Given the description of an element on the screen output the (x, y) to click on. 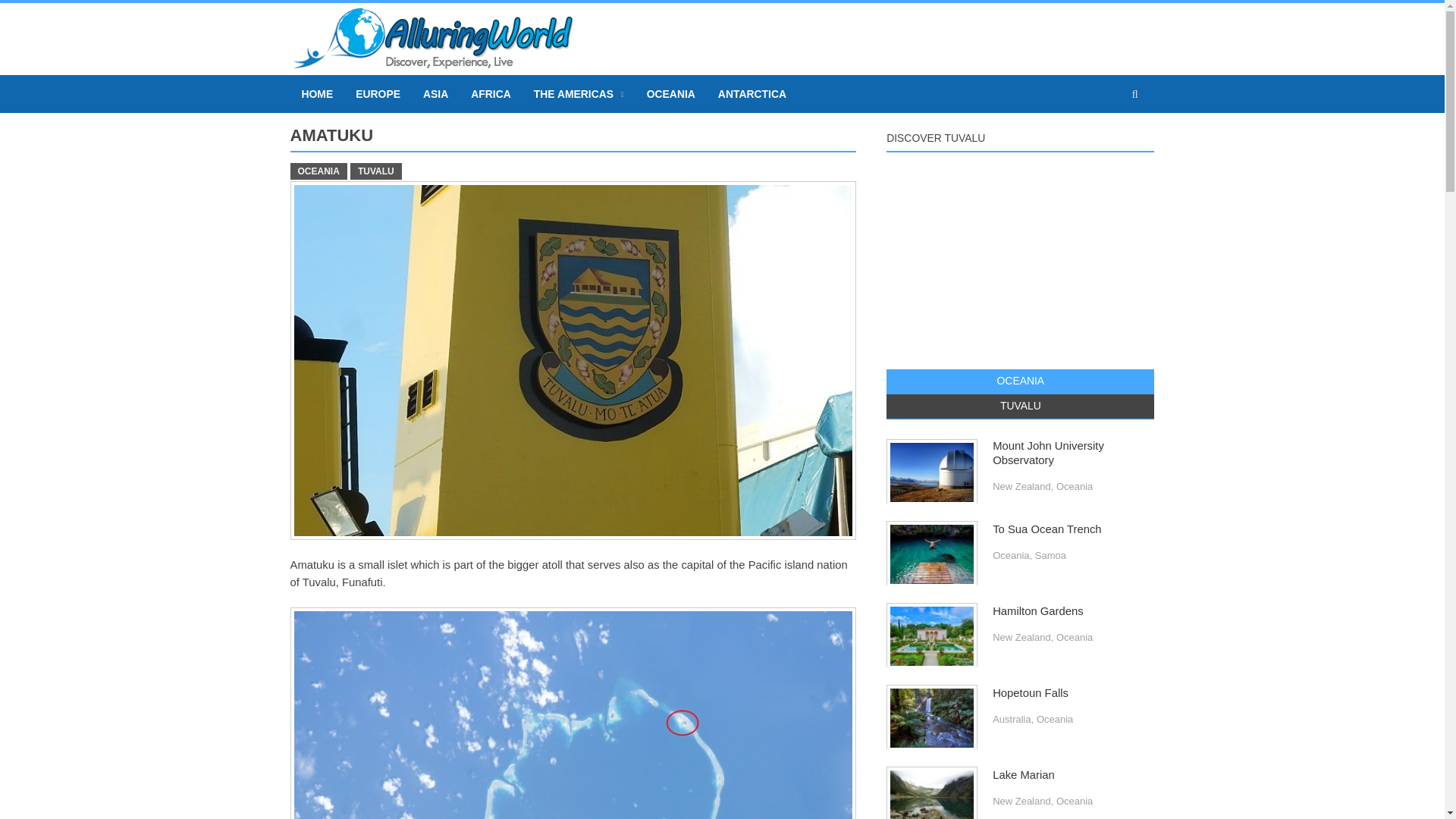
TUVALU (375, 170)
Source: wikipedia.org by NASA  (572, 713)
EUROPE (377, 94)
THE AMERICAS (578, 94)
AFRICA (491, 94)
HOME (316, 94)
ASIA (436, 94)
OCEANIA (670, 94)
ANTARCTICA (751, 94)
